Given the description of an element on the screen output the (x, y) to click on. 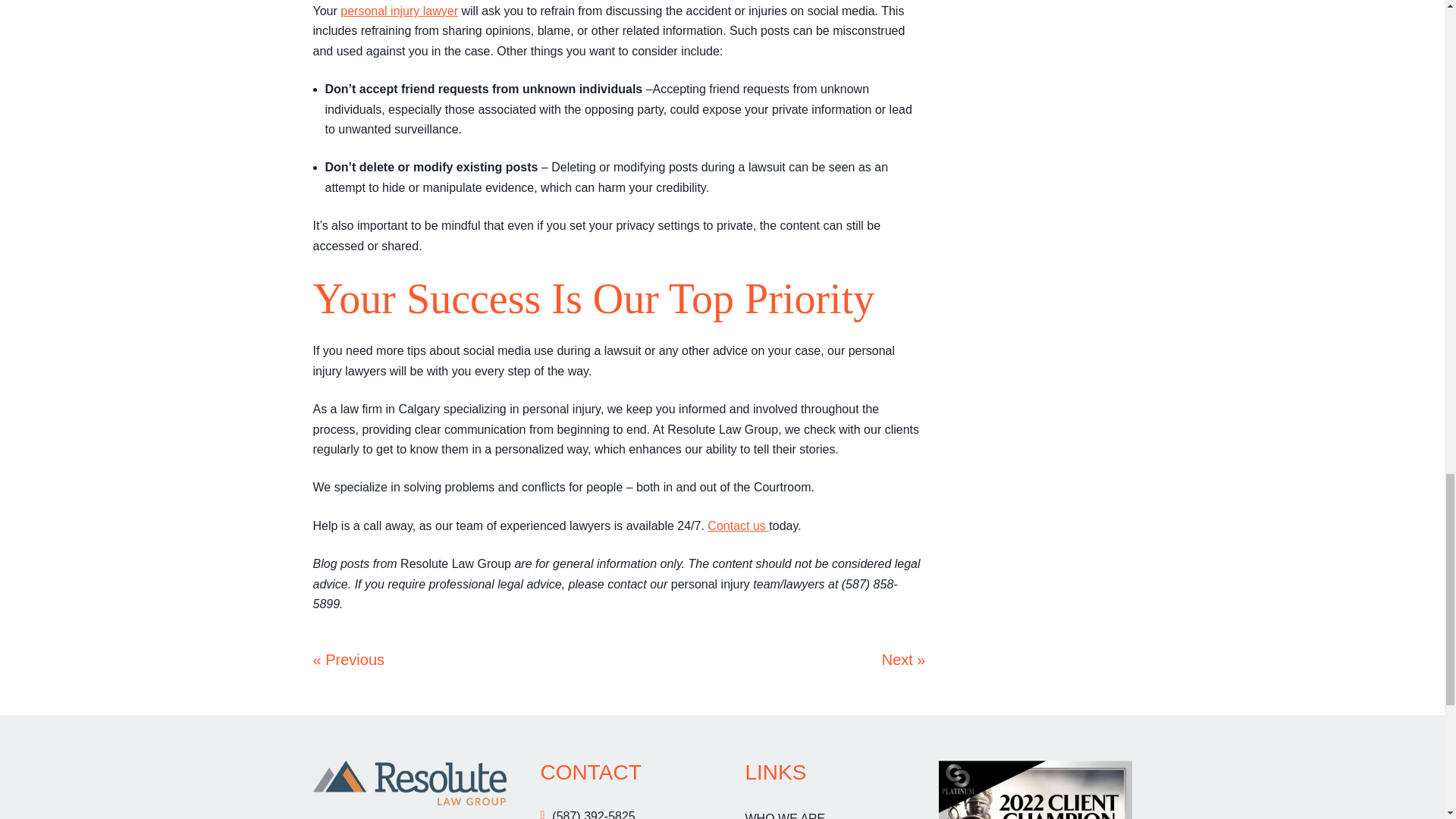
personal injury lawyer (399, 10)
